Given the description of an element on the screen output the (x, y) to click on. 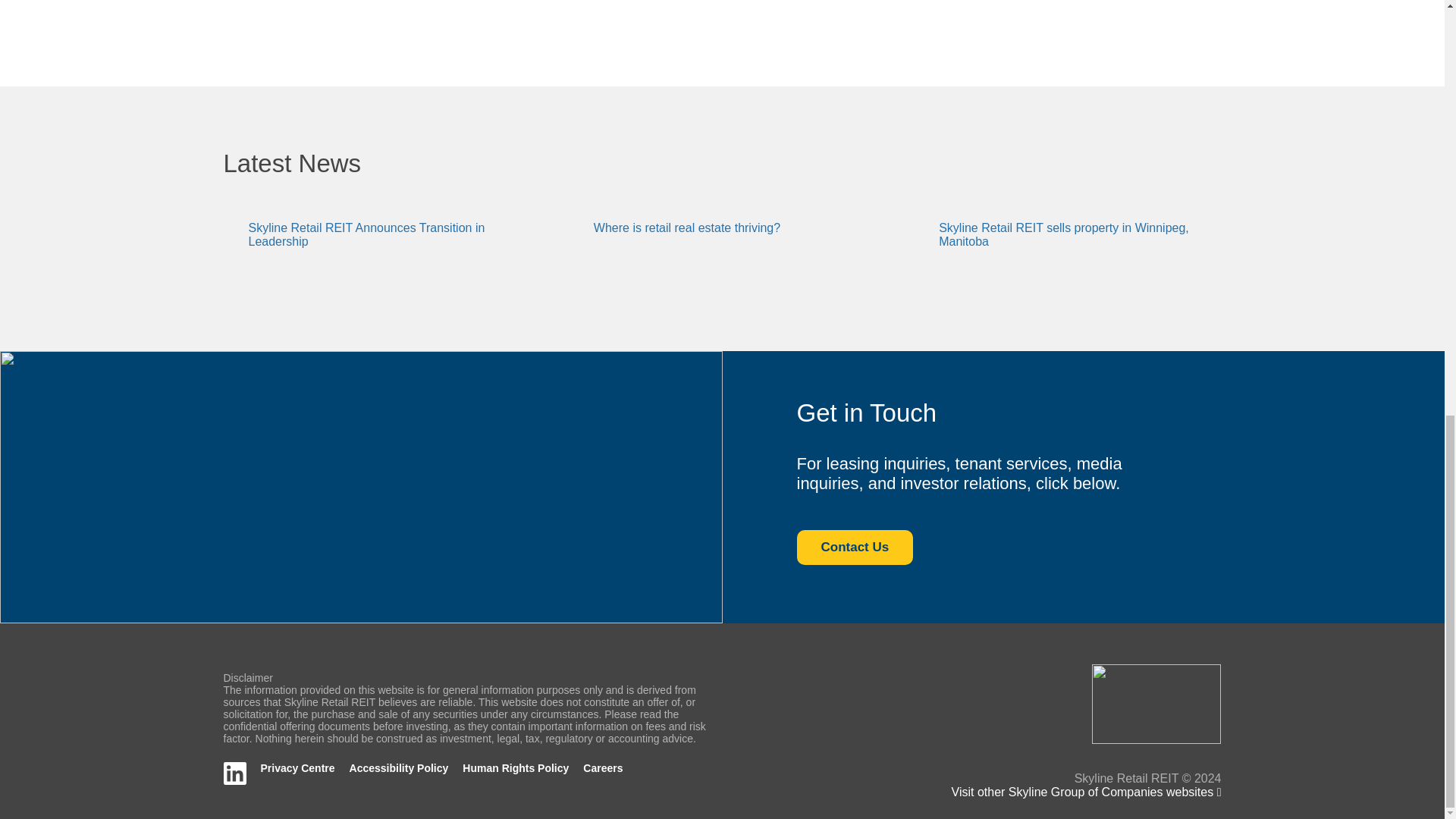
Skyline Retail REIT sells property in Winnipeg, Manitoba (1064, 234)
Human Rights Policy (516, 767)
Where is retail real estate thriving? (687, 227)
Skyline Retail REIT Announces Transition in Leadership (366, 234)
Accessibility Policy (398, 767)
Contact Us (854, 547)
Visit other Skyline Group of Companies websites (1086, 792)
Careers (603, 767)
Privacy Centre (297, 767)
Skyline Retail (1156, 703)
